Given the description of an element on the screen output the (x, y) to click on. 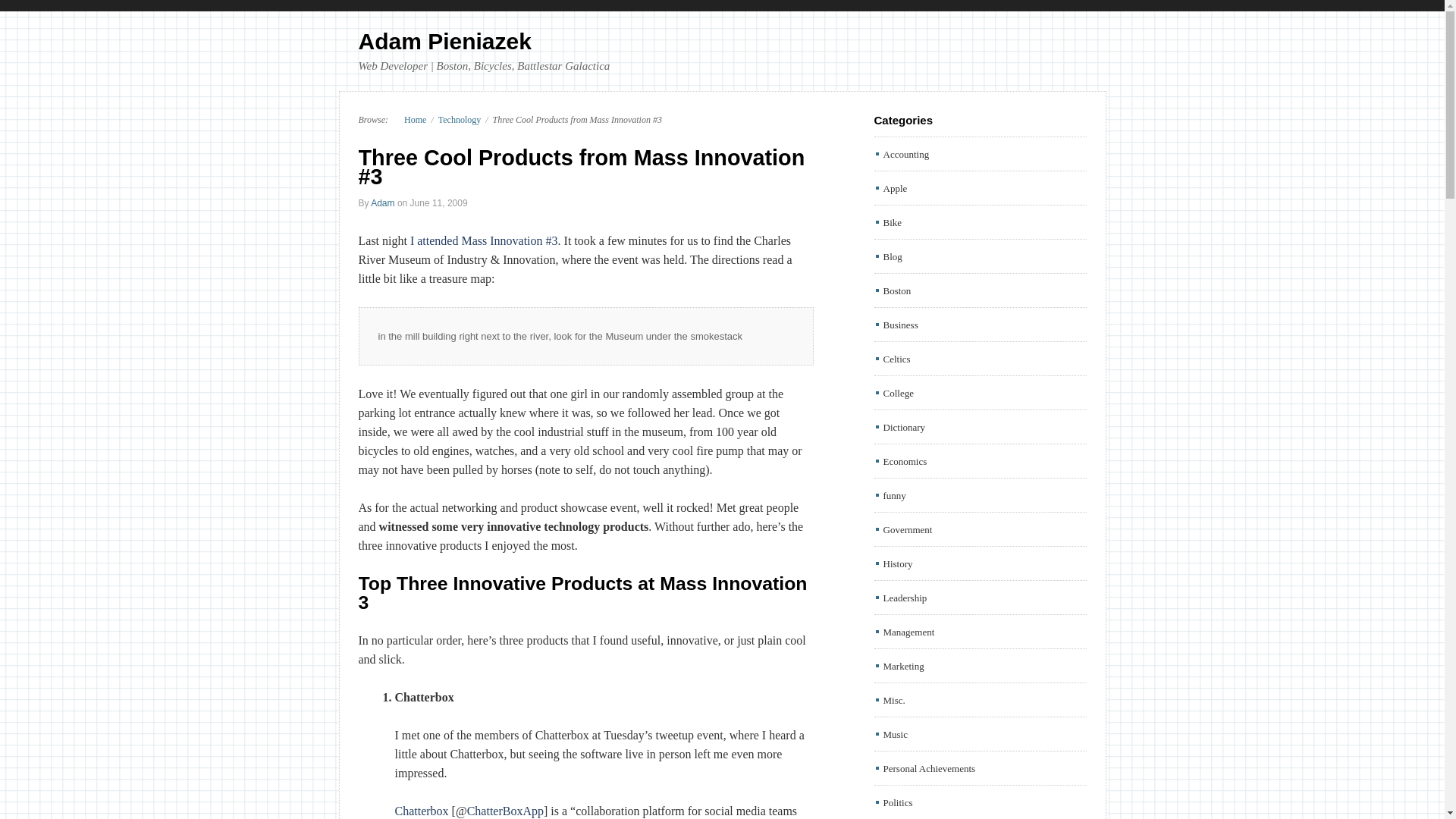
Adam (382, 203)
Adam Pieniazek (444, 41)
Technology (459, 119)
Adam Pieniazek (444, 41)
Home (408, 119)
Adam Pieniazek (408, 119)
Thursday, June 11th, 2009, 4:59 pm (438, 203)
Chatterbox (421, 810)
ChatterBoxApp (505, 810)
Adam (382, 203)
